Given the description of an element on the screen output the (x, y) to click on. 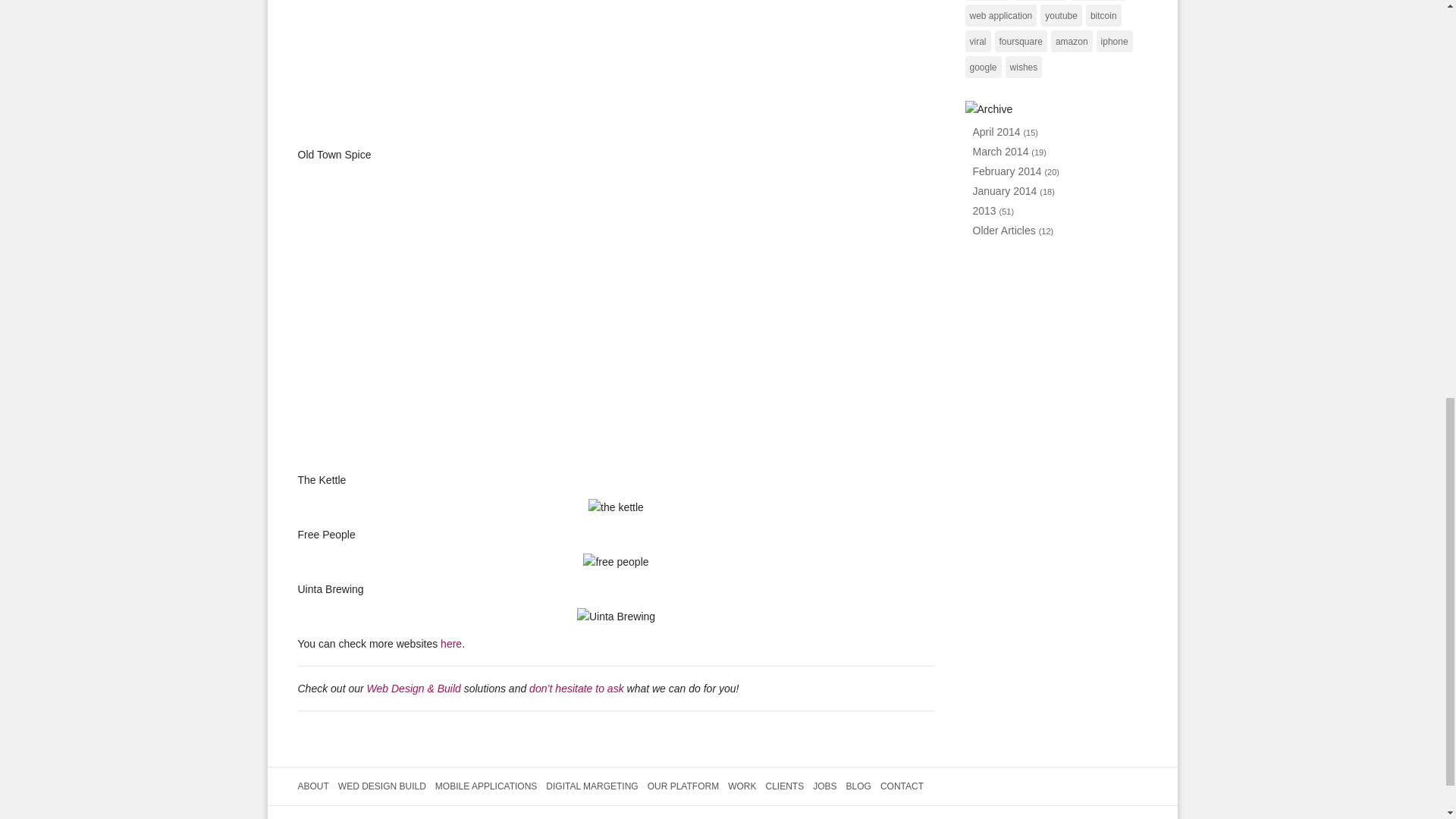
Archive (987, 108)
here (451, 644)
